Given the description of an element on the screen output the (x, y) to click on. 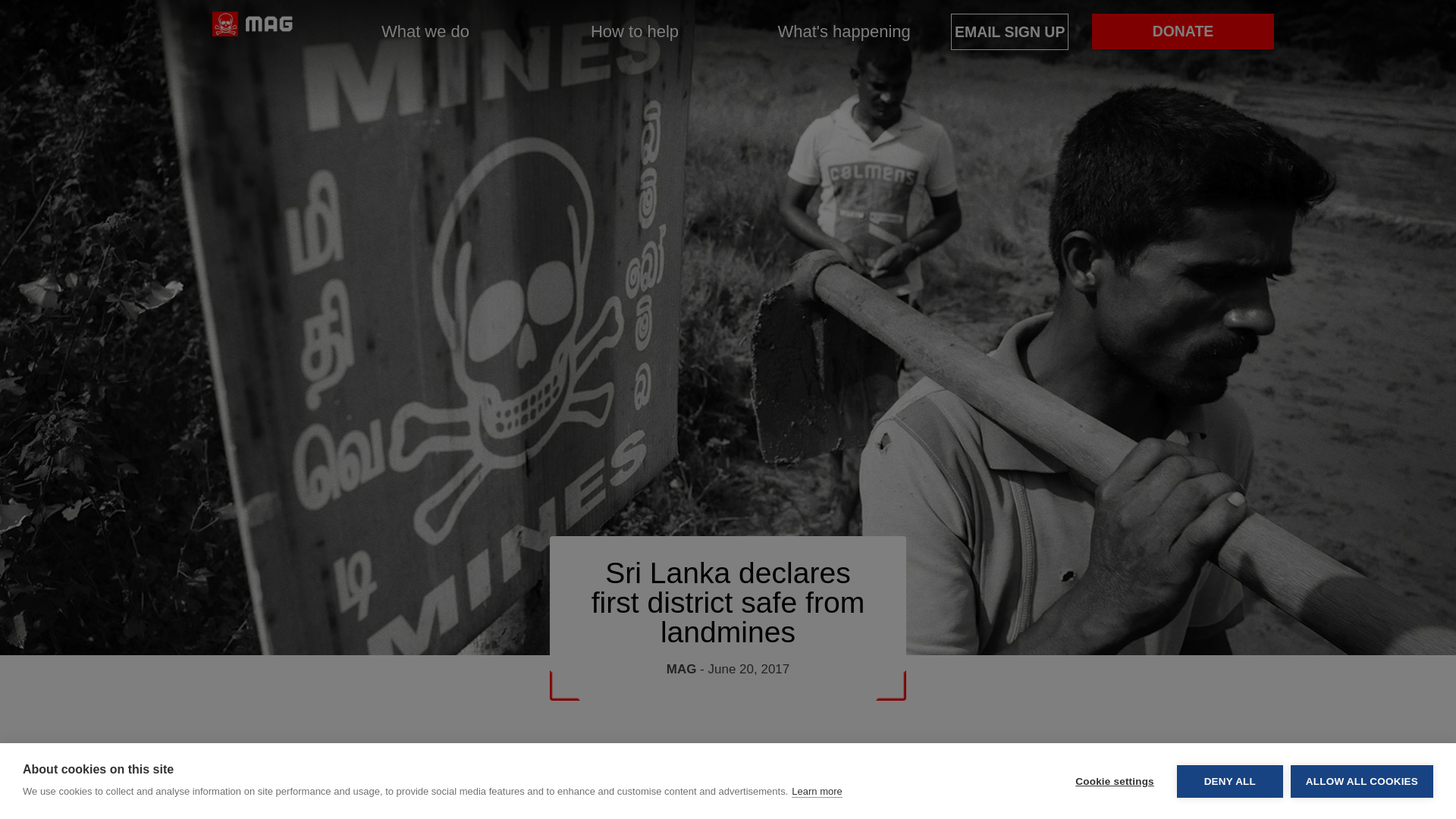
EMAIL SIGN UP (1009, 31)
What's happening (843, 31)
What's happening (843, 31)
What we do (424, 31)
MAG Home (252, 32)
How to help (634, 31)
